Given the description of an element on the screen output the (x, y) to click on. 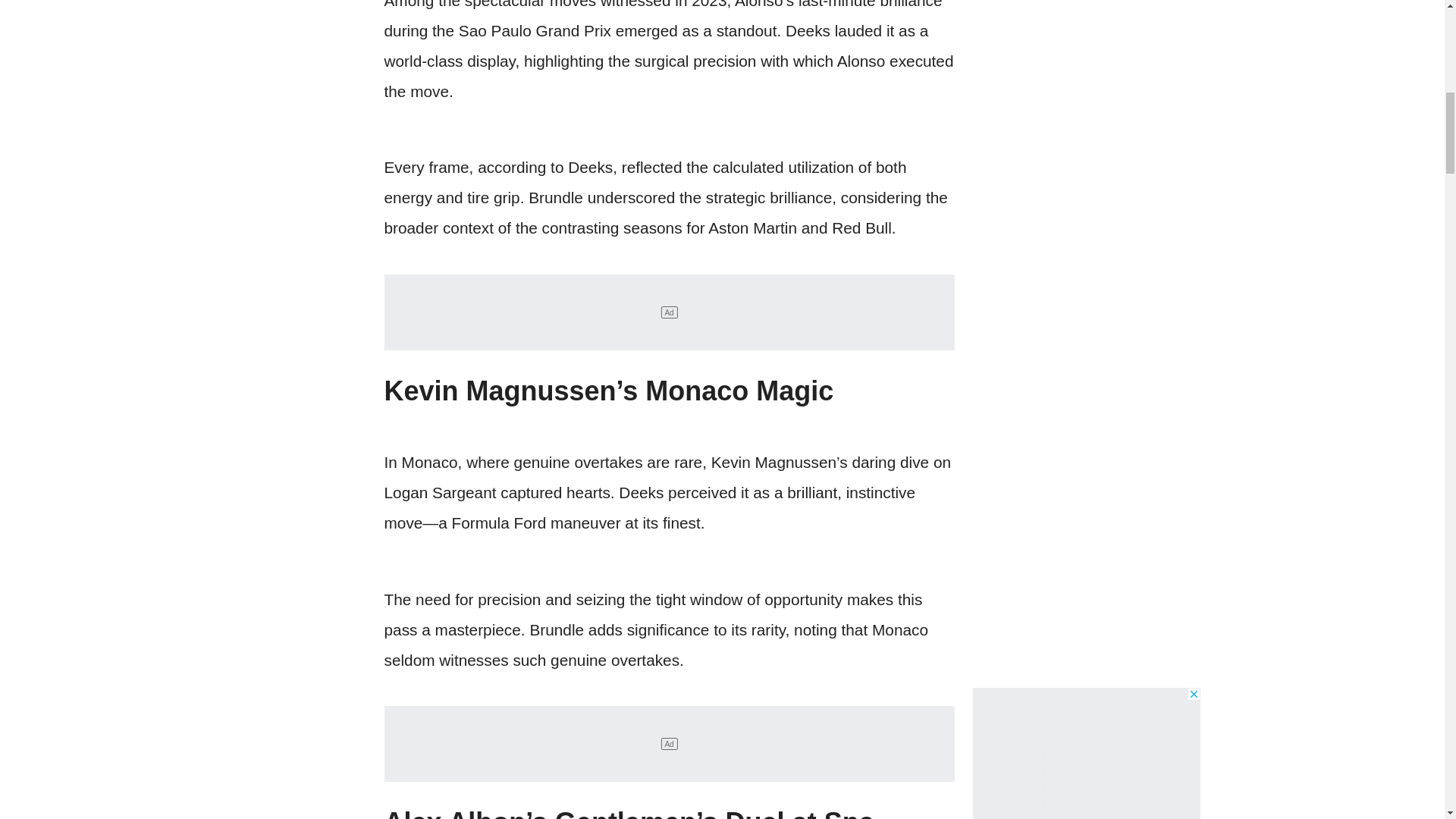
3rd party ad content (1085, 753)
